Given the description of an element on the screen output the (x, y) to click on. 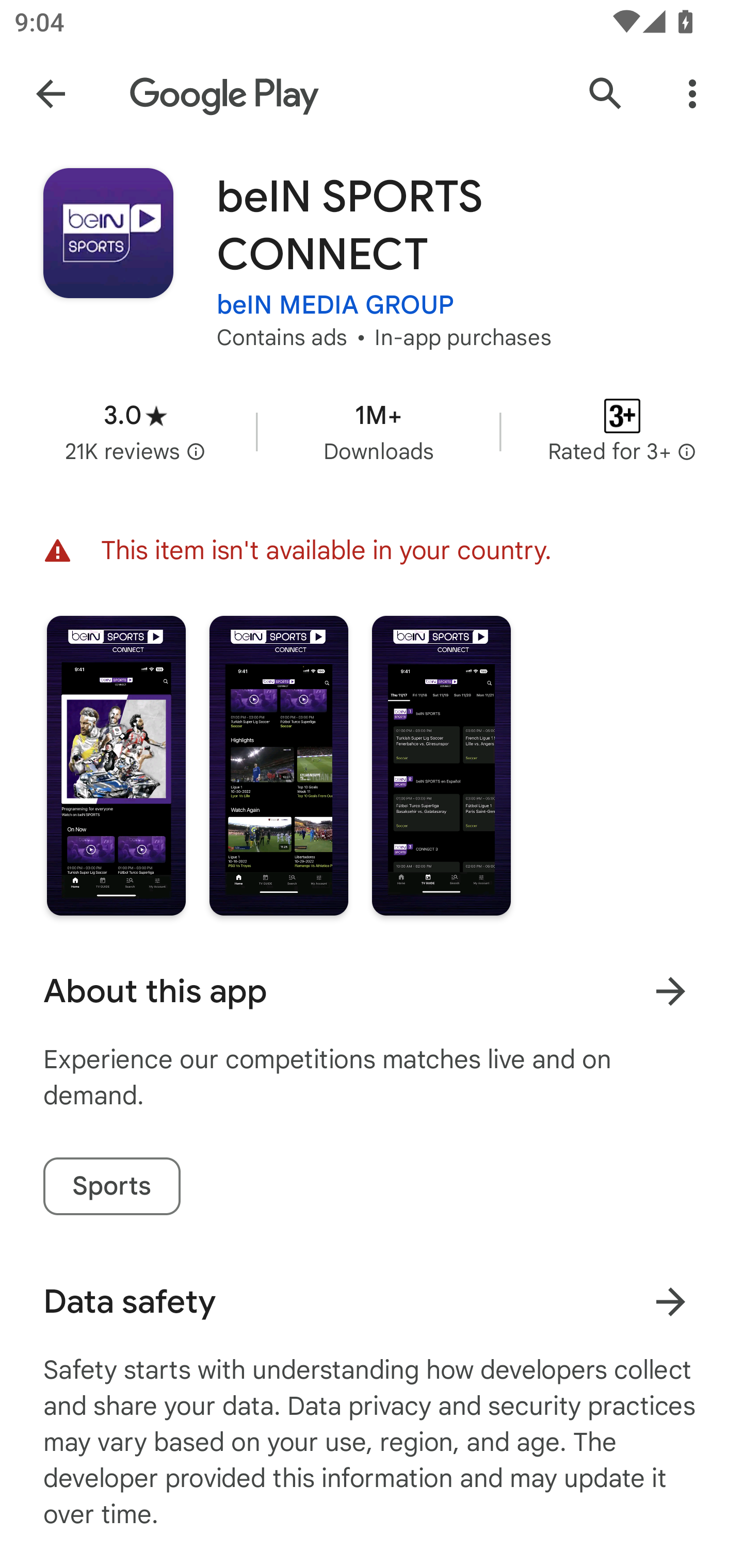
Navigate up (50, 93)
Search Google Play (605, 93)
More Options (692, 93)
beIN MEDIA GROUP (334, 304)
Average rating 3.0 stars in 21 thousand reviews (135, 431)
Content rating Rated for 3+ (622, 431)
Screenshot "1" of "3" (115, 765)
Screenshot "2" of "3" (278, 765)
Screenshot "3" of "3" (441, 765)
About this app Learn more About this app (371, 990)
Learn more About this app (670, 991)
Sports tag (111, 1186)
Data safety Learn more about data safety (371, 1301)
Learn more about data safety (670, 1302)
